Given the description of an element on the screen output the (x, y) to click on. 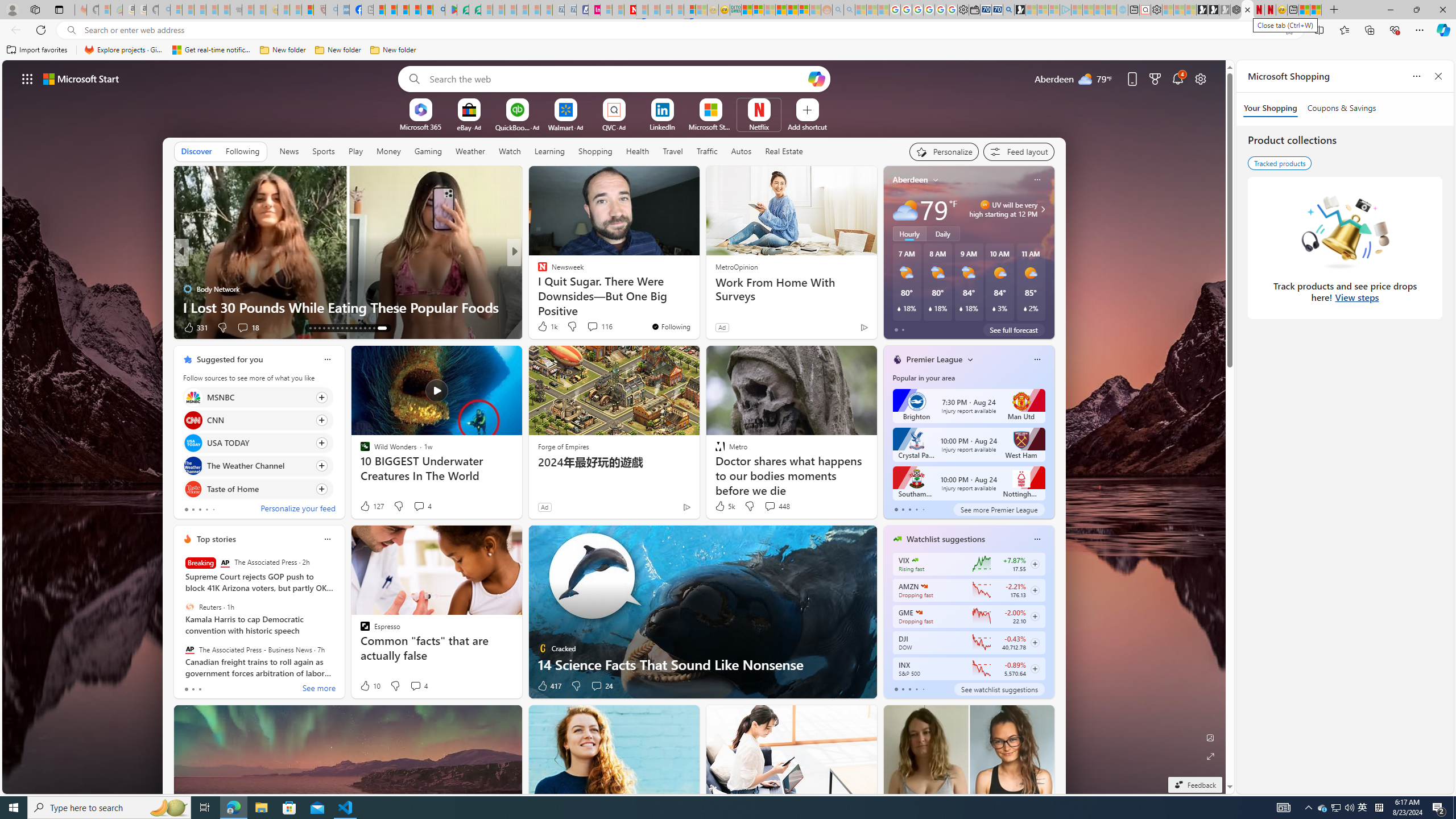
USA TODAY (192, 443)
Kinda Frugal - MSN (792, 9)
New folder (392, 49)
AutomationID: tab-20 (342, 328)
Feed settings (1018, 151)
